Given the description of an element on the screen output the (x, y) to click on. 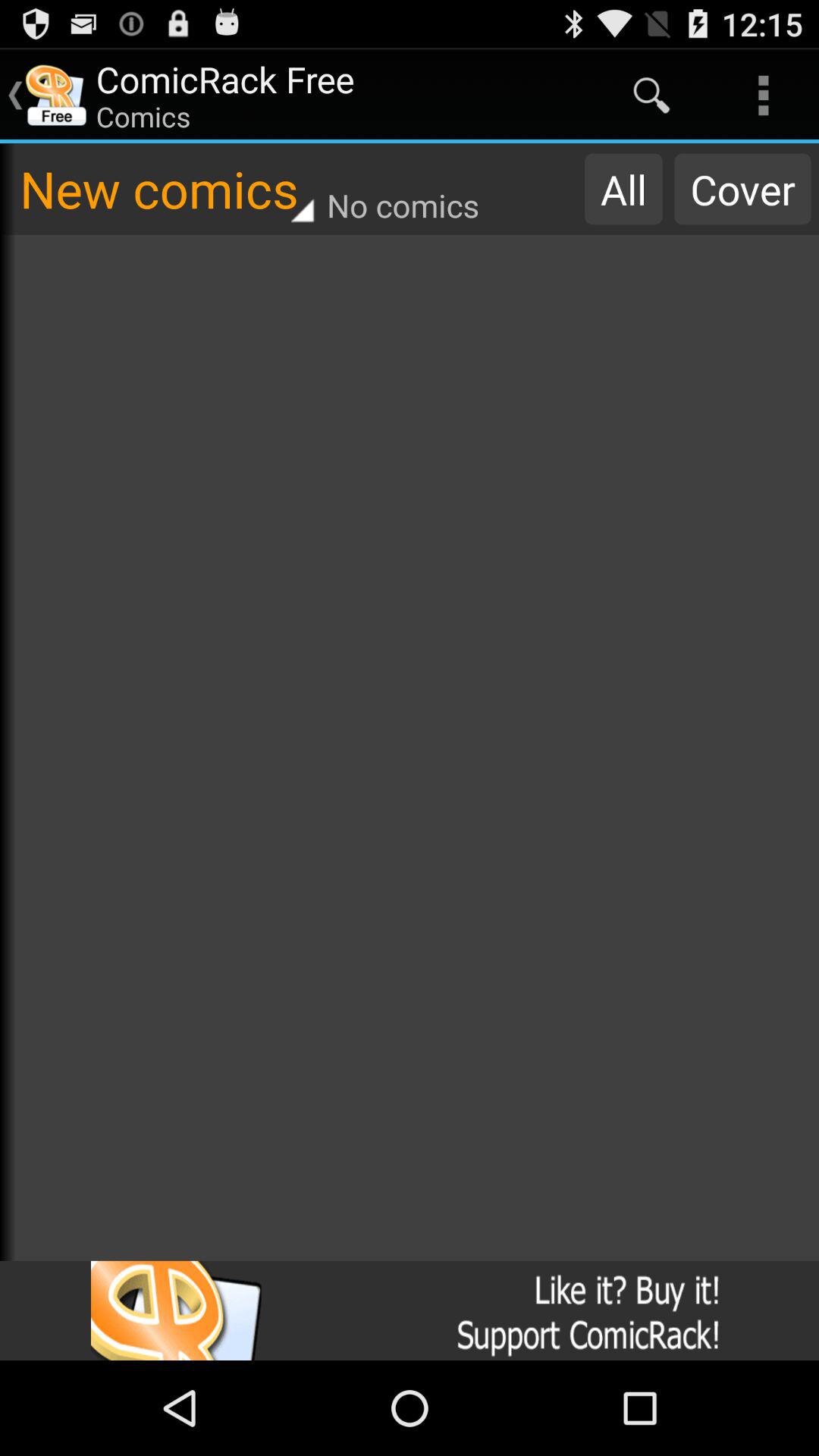
tap the app next to comicrack free icon (651, 95)
